Given the description of an element on the screen output the (x, y) to click on. 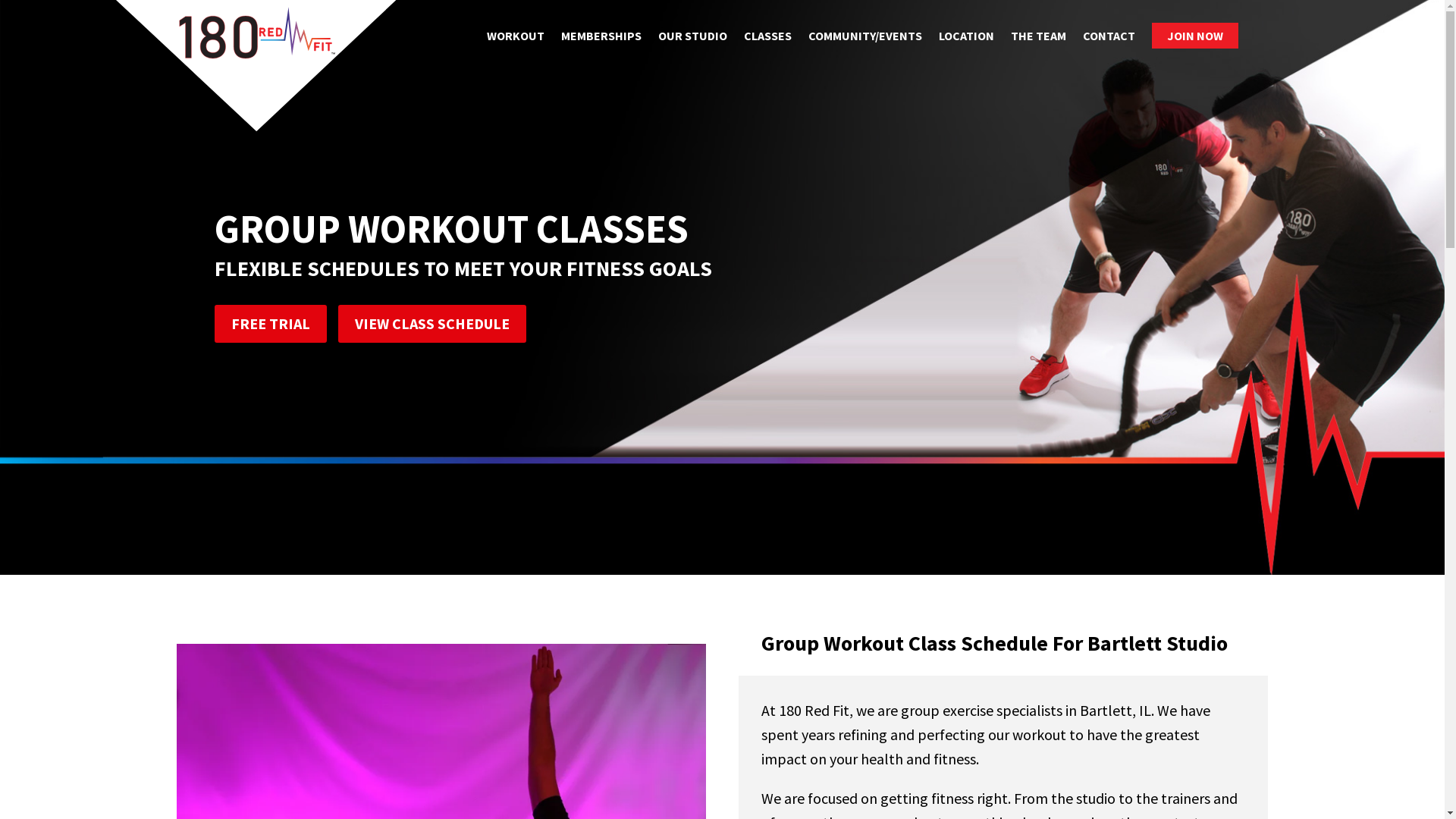
WORKOUT Element type: text (515, 35)
JOIN NOW Element type: text (1194, 35)
LOCATION Element type: text (966, 35)
CONTACT Element type: text (1108, 35)
studio Element type: text (1095, 797)
VIEW CLASS SCHEDULE Element type: text (432, 323)
THE TEAM Element type: text (1038, 35)
OUR STUDIO Element type: text (692, 35)
FREE TRIAL Element type: text (269, 323)
COMMUNITY/EVENTS Element type: text (865, 35)
our workout Element type: text (1027, 733)
CLASSES Element type: text (767, 35)
MEMBERSHIPS Element type: text (601, 35)
